Given the description of an element on the screen output the (x, y) to click on. 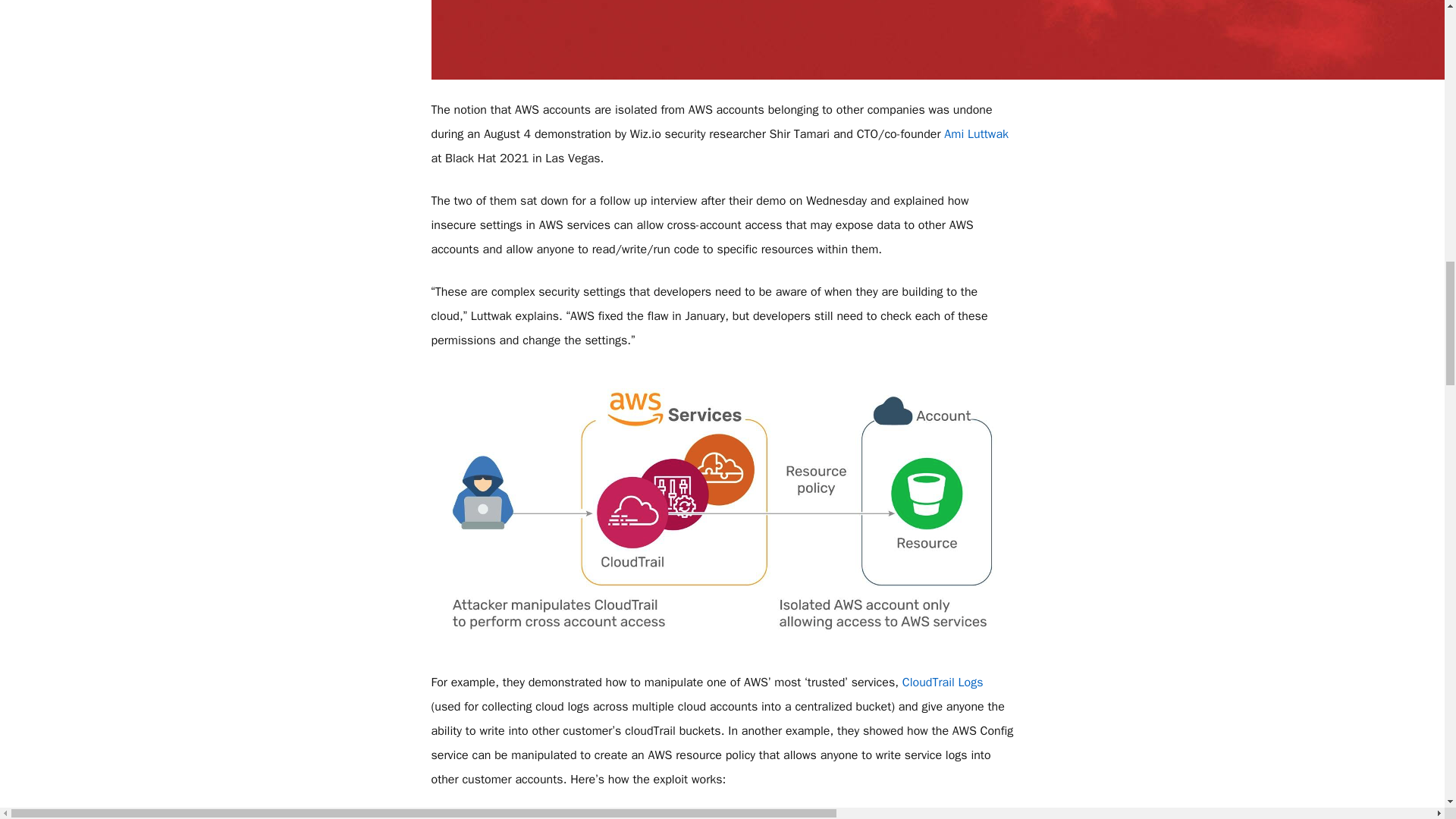
Ami Luttwak (976, 133)
CloudTrail Logs (943, 682)
